Given the description of an element on the screen output the (x, y) to click on. 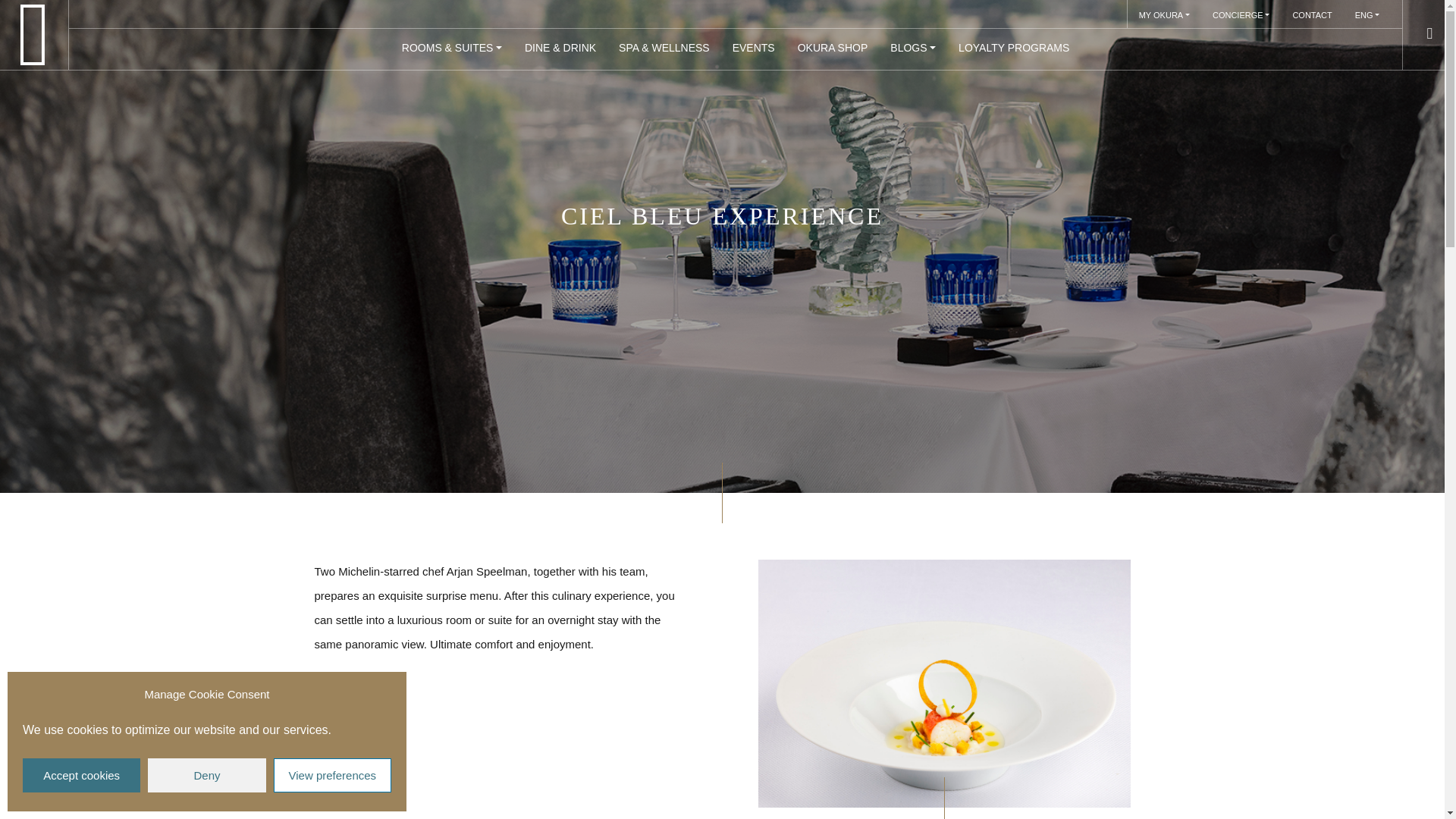
OKURA SHOP (832, 48)
LOYALTY PROGRAMS (1013, 48)
MY OKURA (1163, 13)
View preferences (332, 775)
CONTACT (1312, 13)
BLOGS (912, 48)
EVENTS (753, 48)
CONCIERGE (1240, 13)
Deny (206, 775)
ENG (1367, 13)
